Given the description of an element on the screen output the (x, y) to click on. 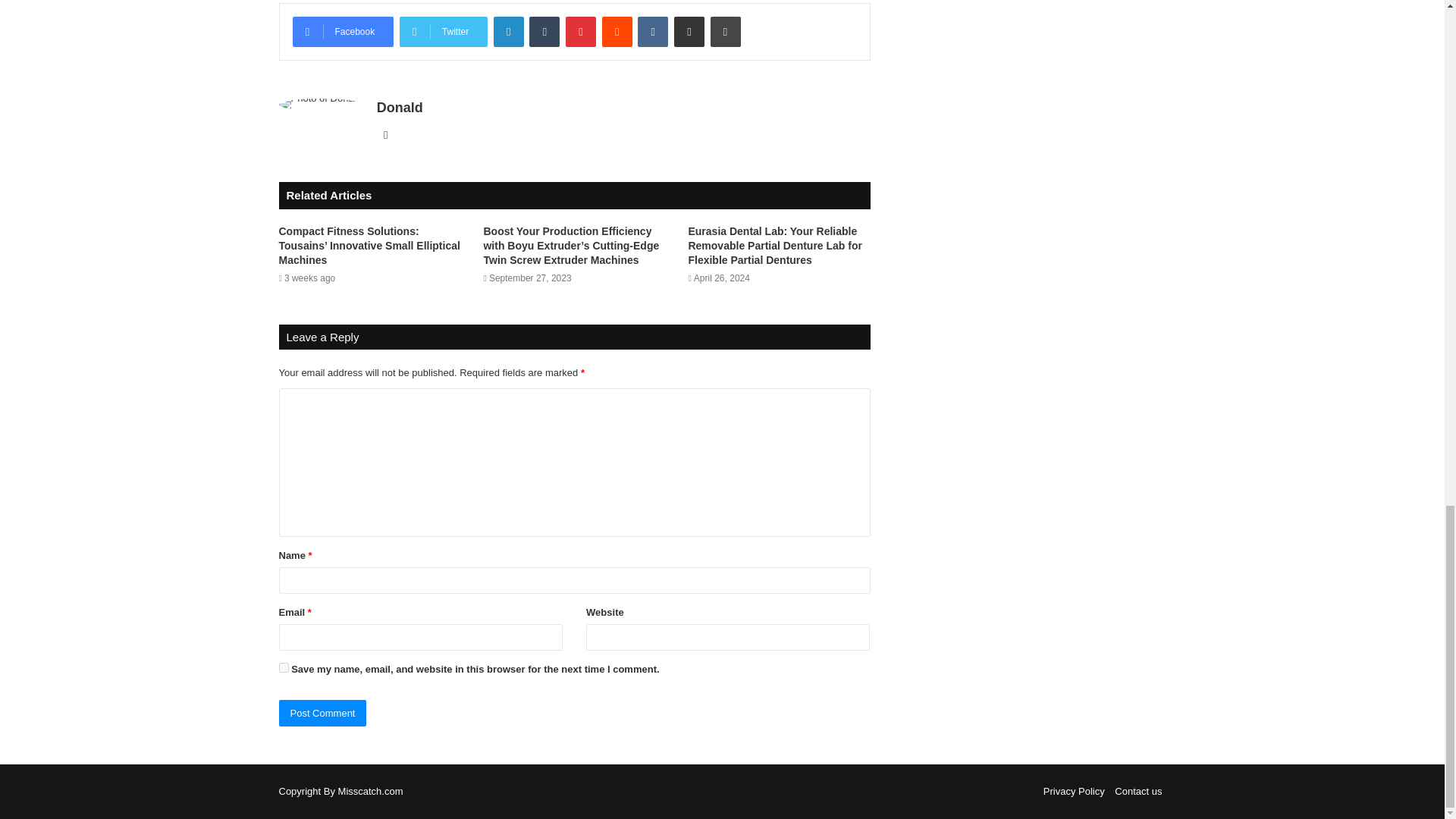
Print (725, 31)
Donald (400, 107)
Facebook (343, 31)
Tumblr (544, 31)
Pinterest (580, 31)
Post Comment (322, 713)
Share via Email (689, 31)
Reddit (616, 31)
Website (385, 135)
Facebook (343, 31)
yes (283, 667)
LinkedIn (508, 31)
VKontakte (652, 31)
Pinterest (580, 31)
Post Comment (322, 713)
